Given the description of an element on the screen output the (x, y) to click on. 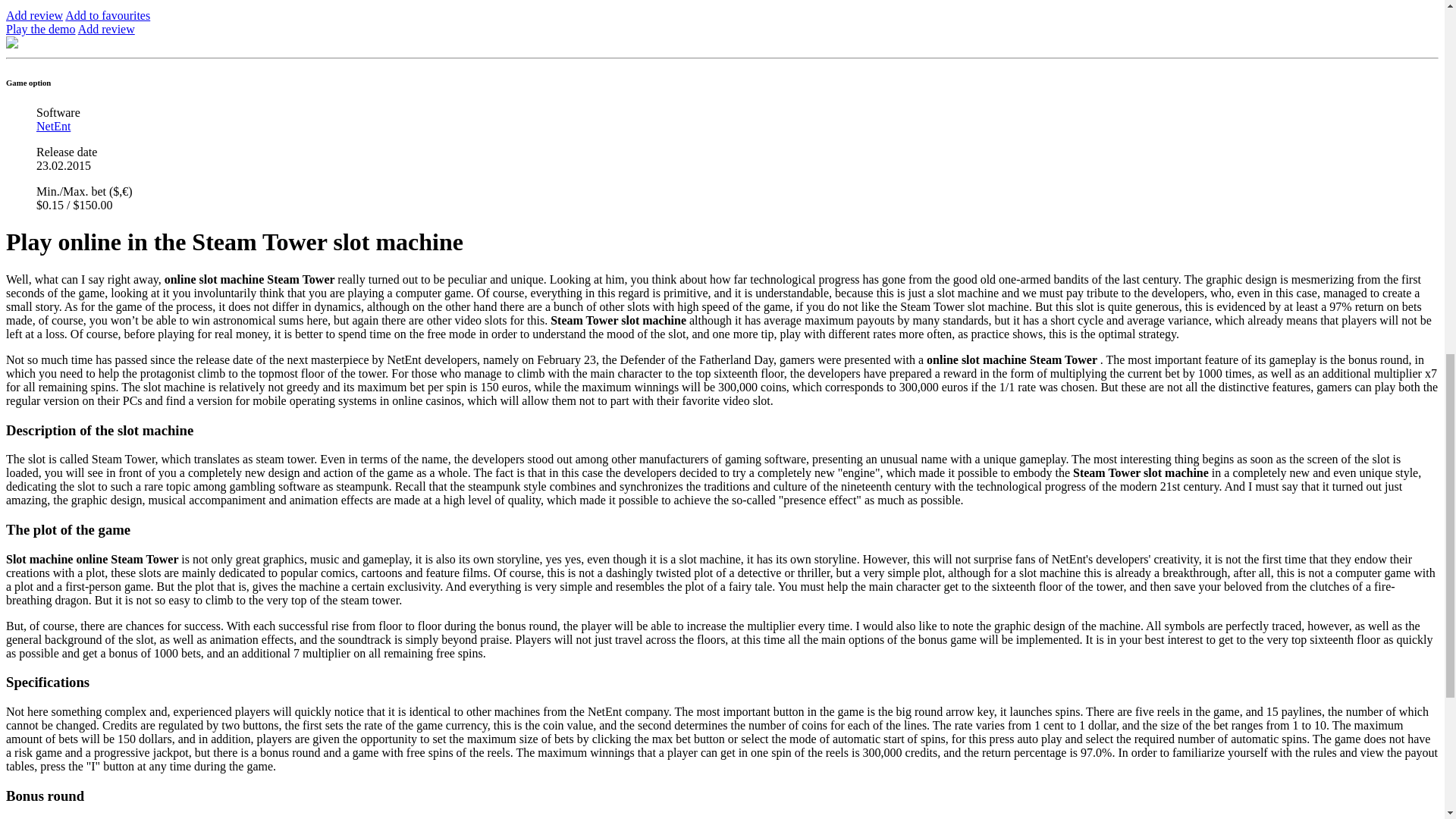
Play the demo (40, 29)
Add review (106, 29)
Add to favourites (107, 15)
Add review (33, 15)
